Given the description of an element on the screen output the (x, y) to click on. 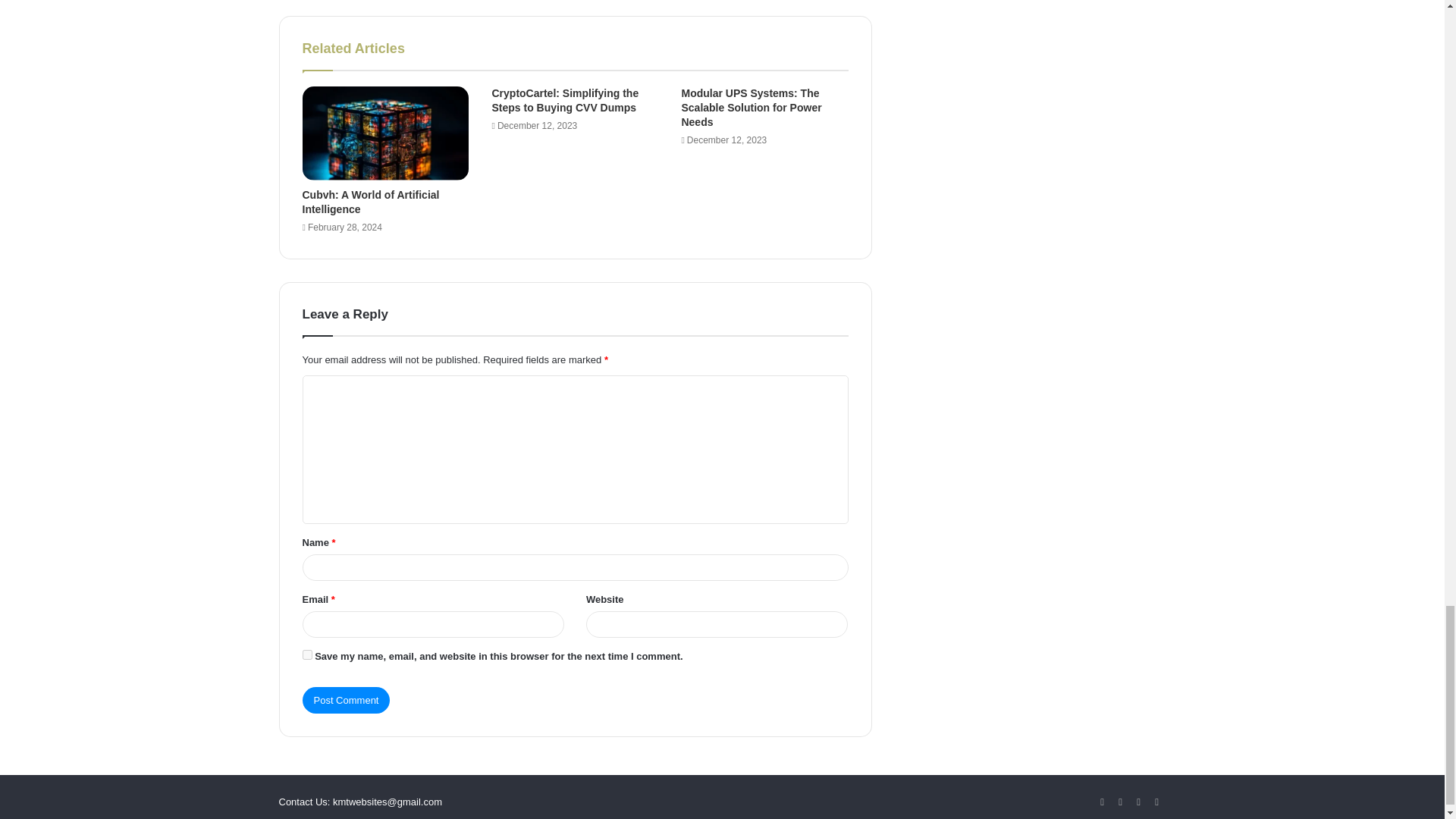
Post Comment (345, 700)
yes (306, 655)
